Given the description of an element on the screen output the (x, y) to click on. 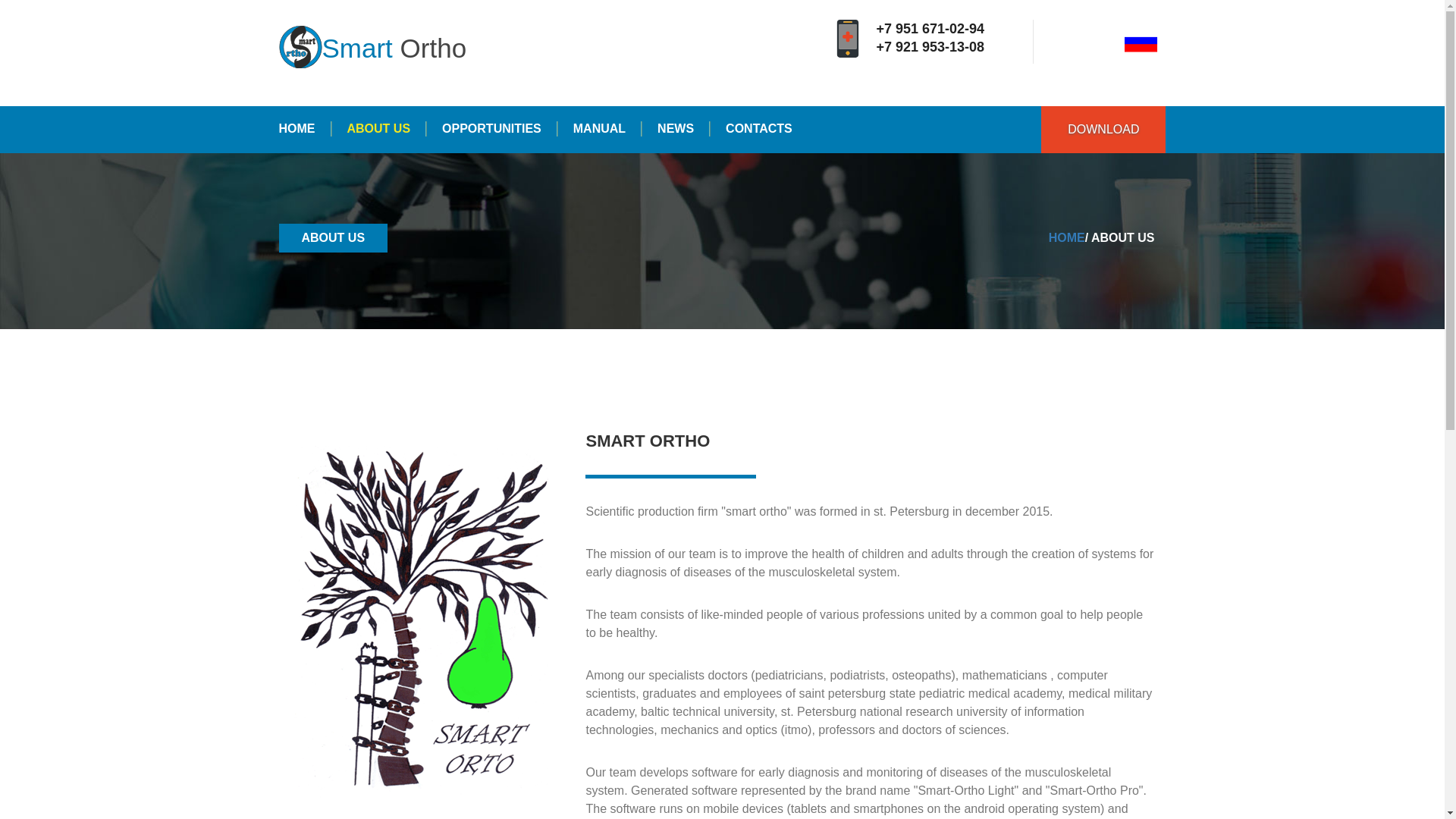
Smart Ortho (373, 48)
HOME (1066, 237)
NEWS (676, 128)
CONTACTS (751, 128)
MANUAL (599, 128)
HOME (305, 128)
ABOUT US (378, 128)
OPPORTUNITIES (491, 128)
DOWNLOAD (1103, 129)
